Given the description of an element on the screen output the (x, y) to click on. 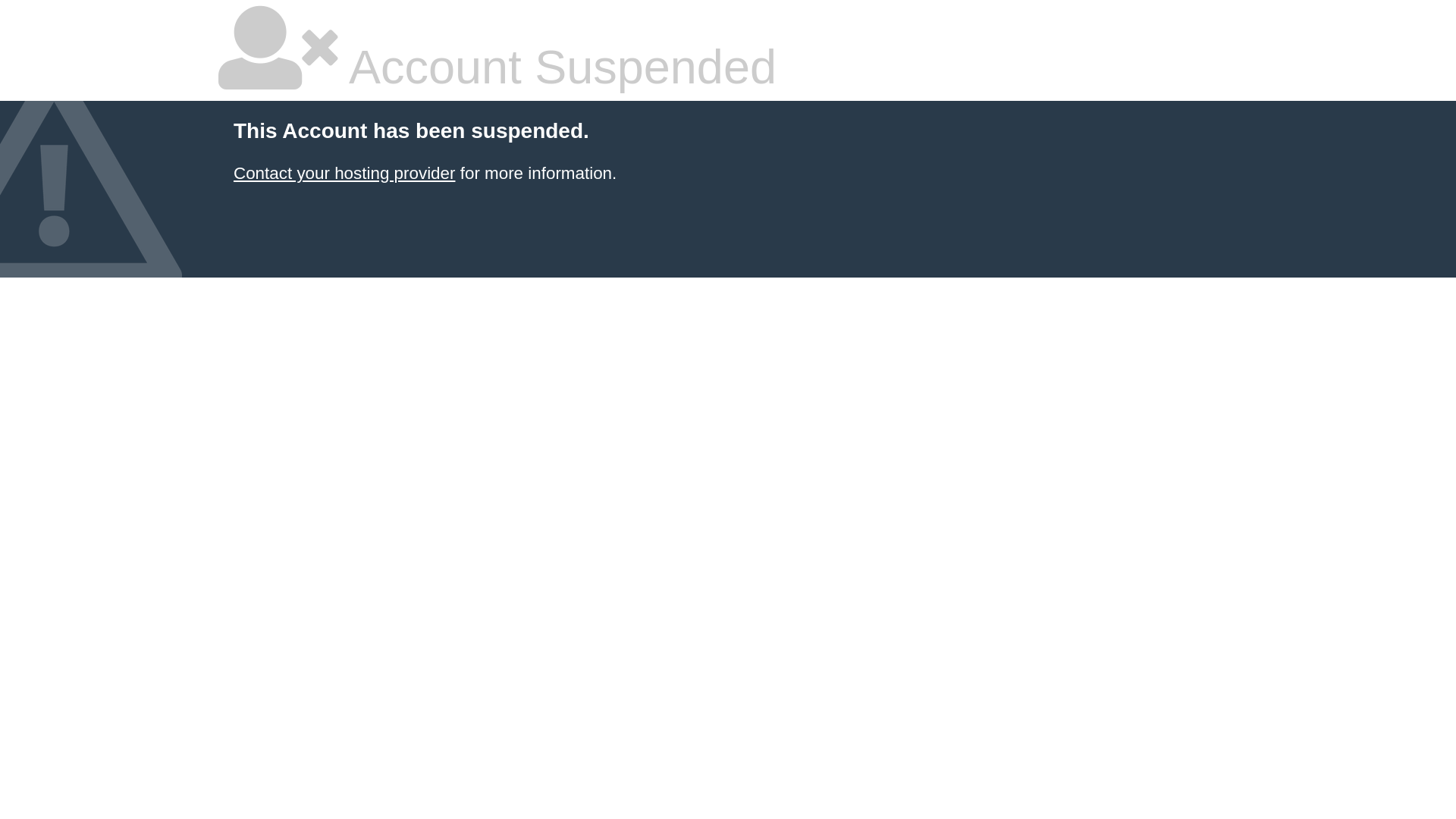
Contact your hosting provider Element type: text (344, 172)
